Given the description of an element on the screen output the (x, y) to click on. 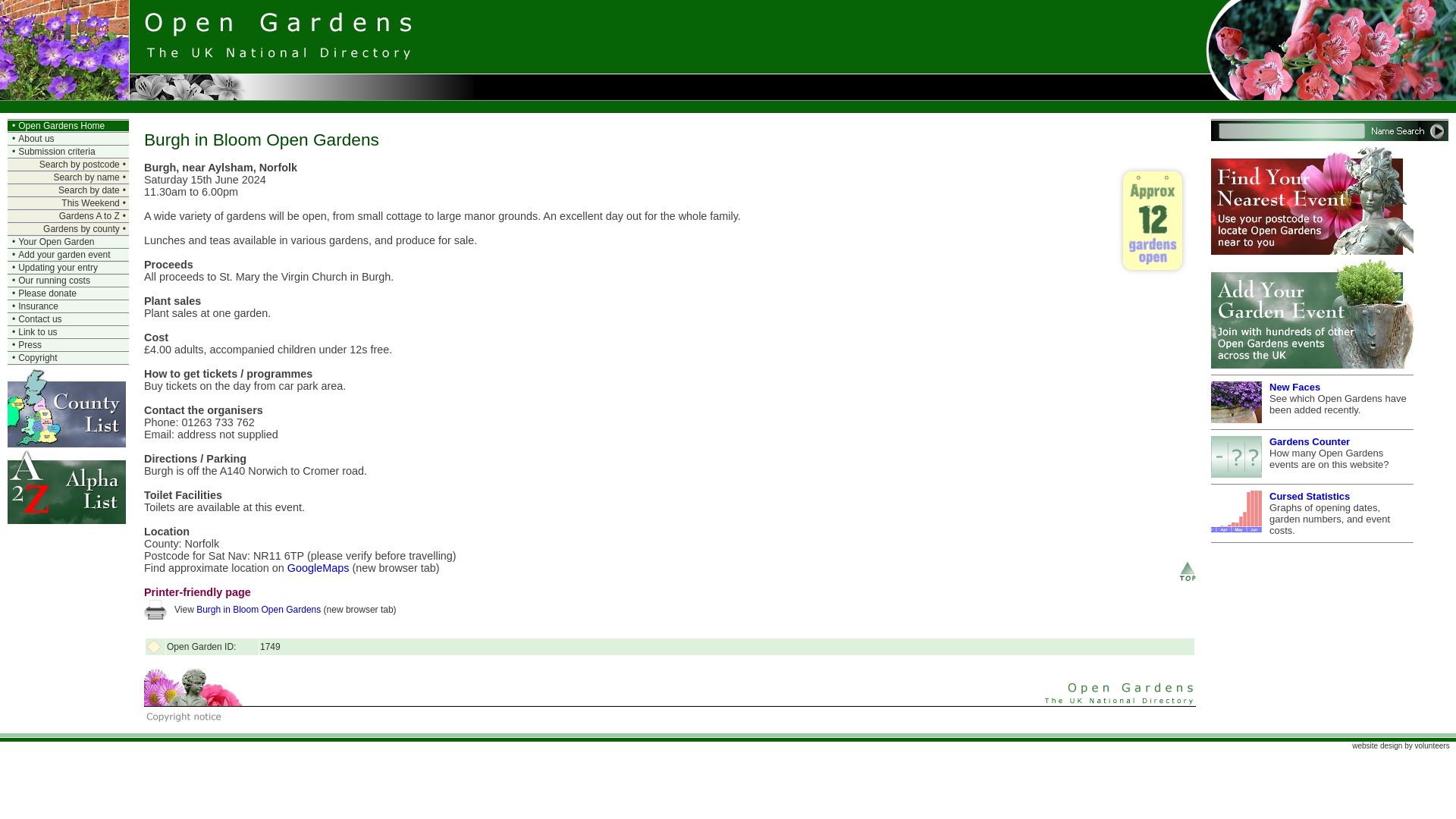
Copyright (36, 357)
New Faces (1294, 387)
Contact us (39, 318)
Search by date (88, 190)
Open Gardens Home (60, 125)
Link to us (36, 331)
About us (35, 138)
Cursed Statistics (1309, 496)
Our running costs (53, 280)
Add your garden event (63, 254)
